Given the description of an element on the screen output the (x, y) to click on. 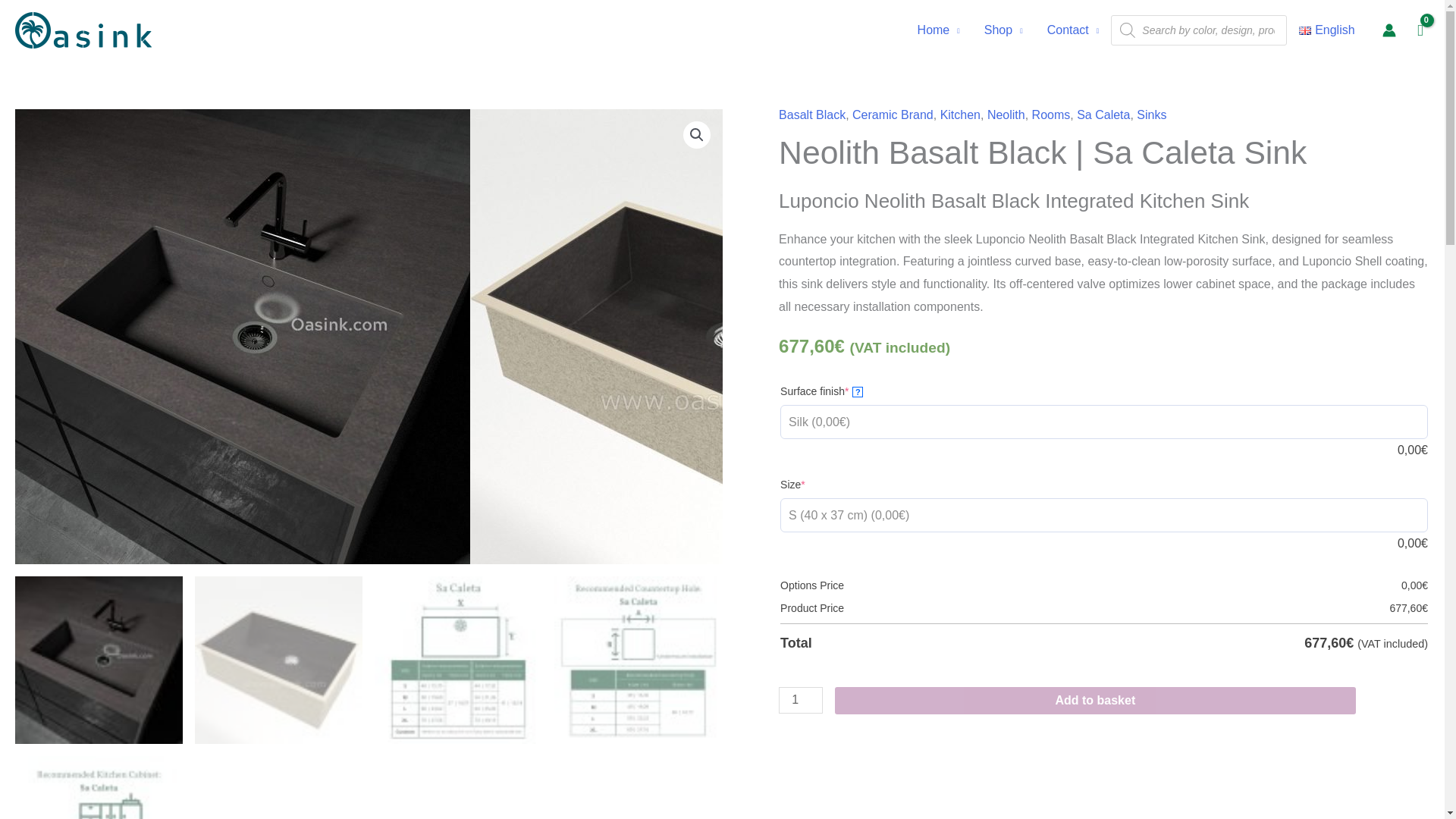
Contact (1073, 30)
English (1327, 30)
Home (938, 30)
1 (800, 700)
Shop (1003, 30)
